Given the description of an element on the screen output the (x, y) to click on. 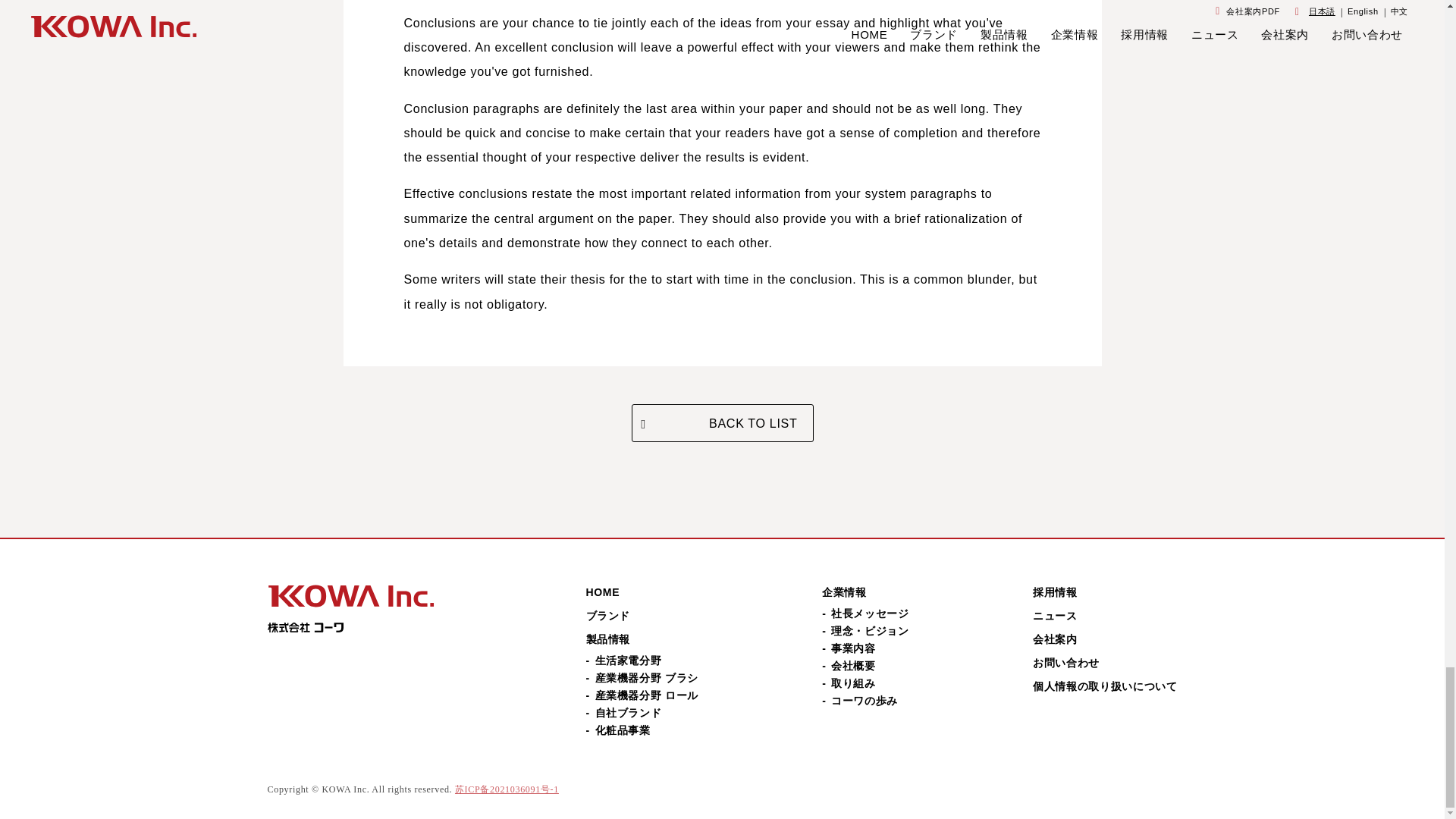
BACK TO LIST (721, 423)
HOME (602, 592)
